Given the description of an element on the screen output the (x, y) to click on. 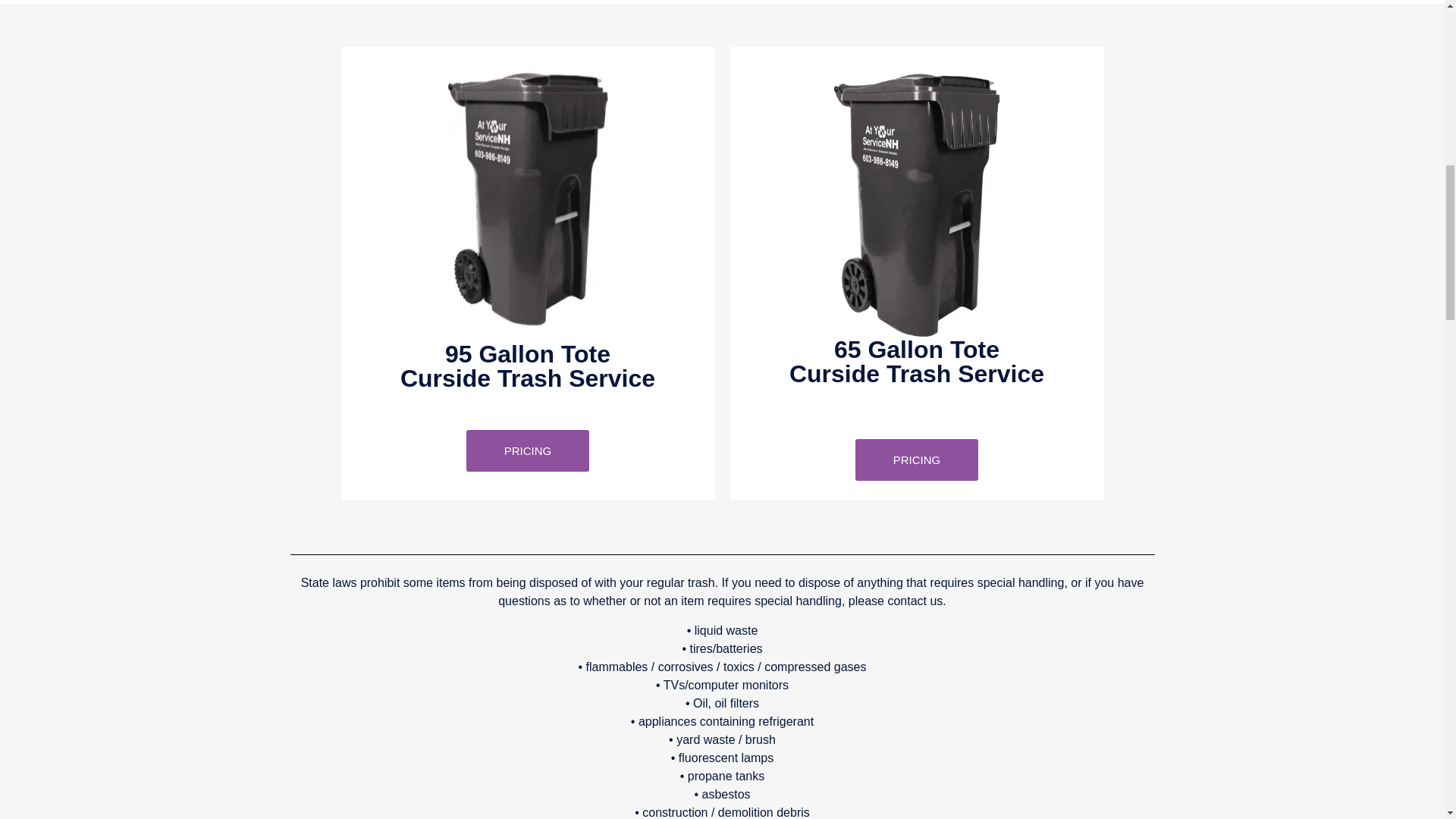
PRICING (527, 450)
PRICING (917, 459)
